Given the description of an element on the screen output the (x, y) to click on. 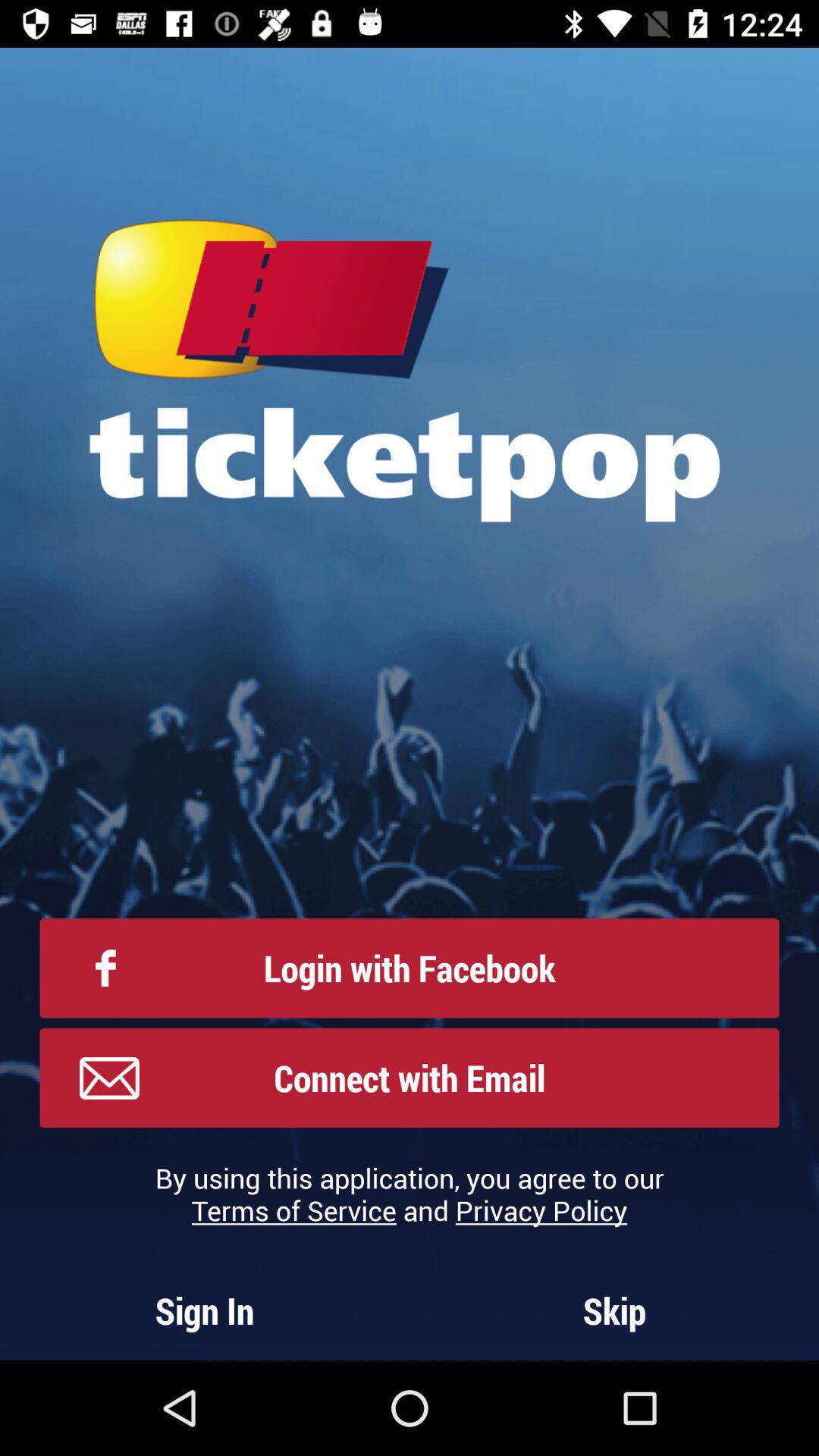
turn off the sign in icon (204, 1310)
